Given the description of an element on the screen output the (x, y) to click on. 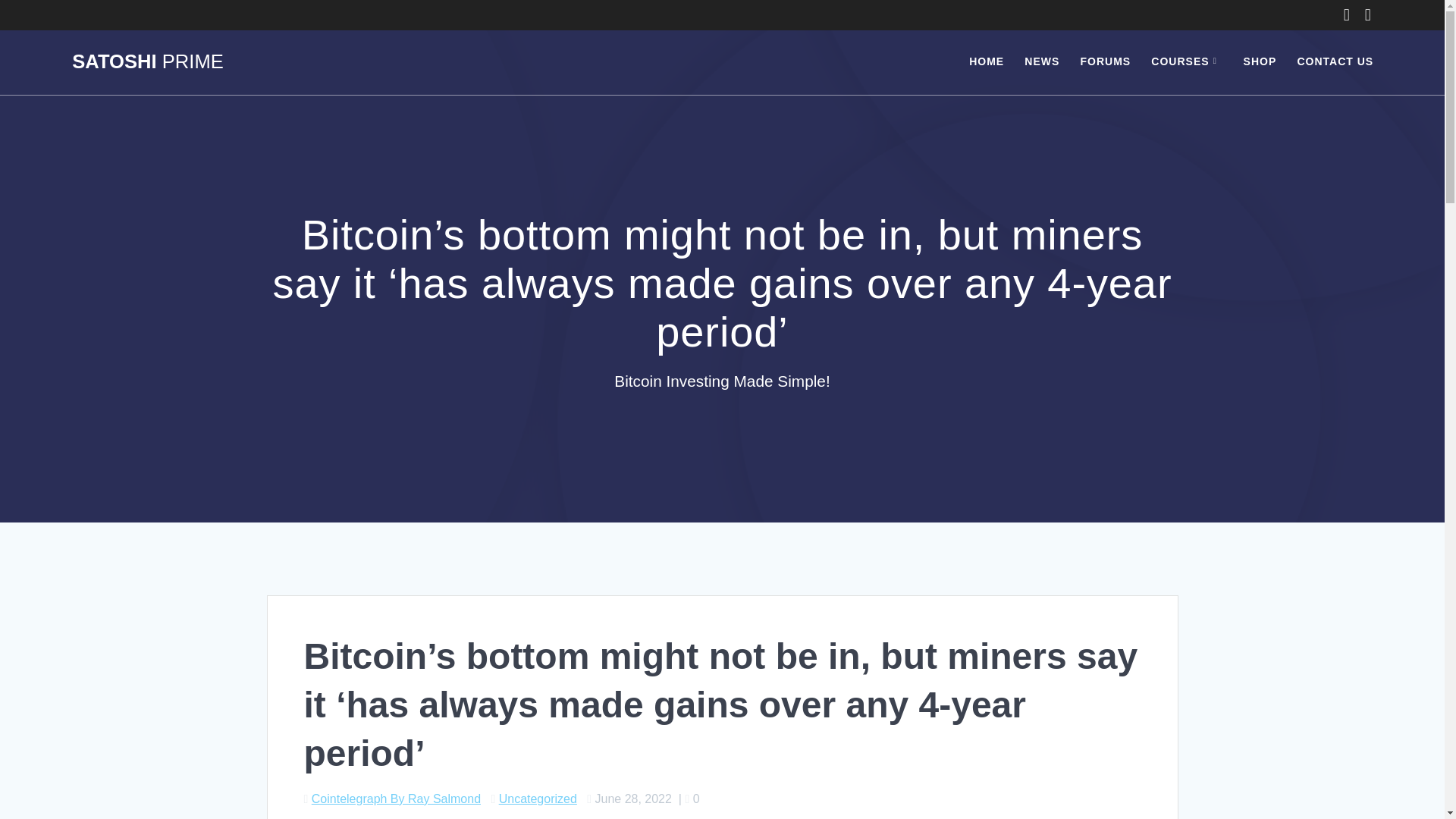
Cointelegraph By Ray Salmond (395, 798)
SHOP (1259, 62)
COURSES (1187, 62)
FORUMS (1105, 62)
NEWS (1042, 62)
CONTACT US (1335, 62)
HOME (986, 62)
Posts by Cointelegraph By Ray Salmond (395, 798)
SATOSHI PRIME (147, 62)
Uncategorized (537, 798)
